Given the description of an element on the screen output the (x, y) to click on. 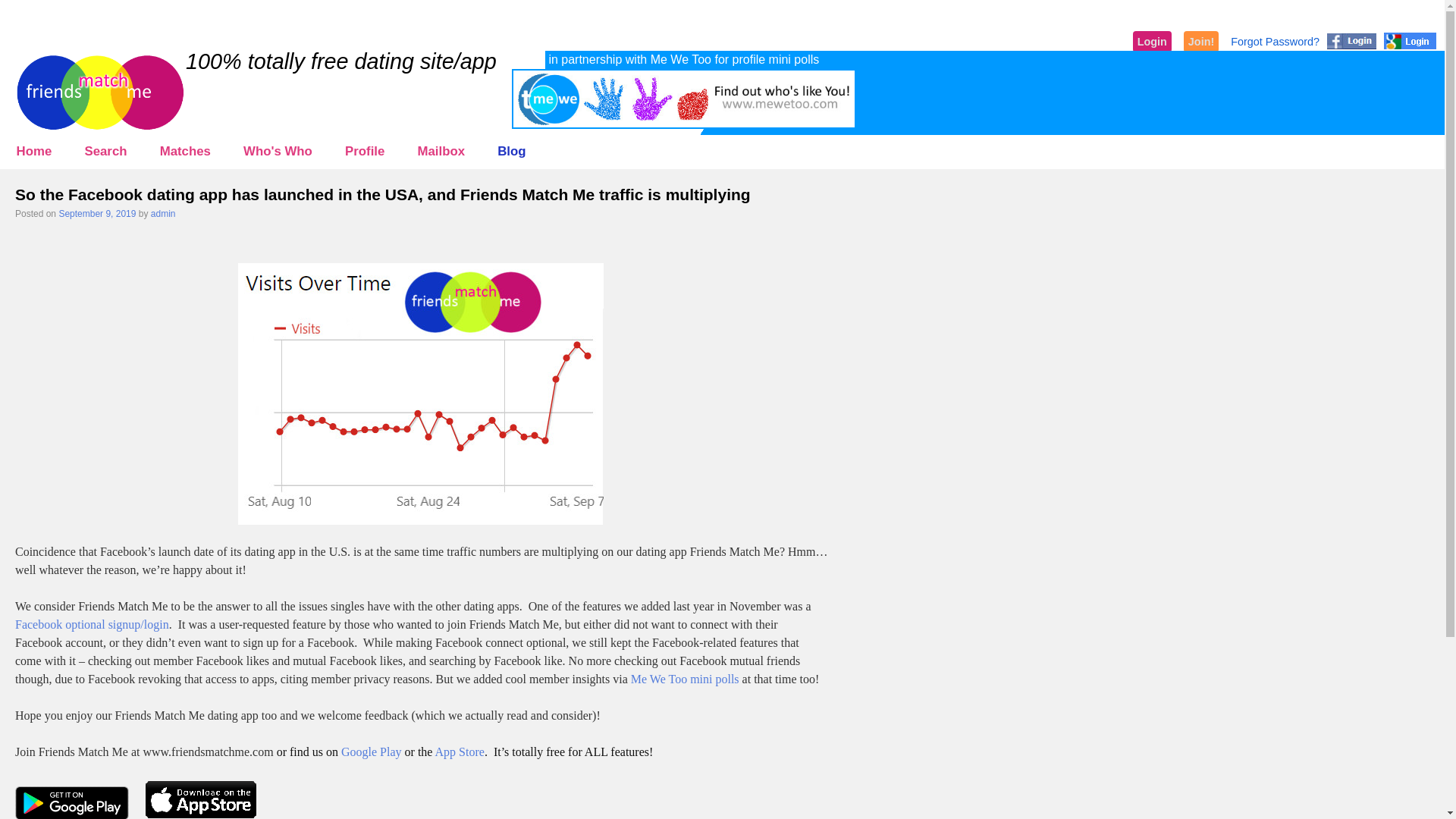
Google Play (370, 751)
September 9, 2019 (96, 213)
admin (163, 213)
Who's Who (278, 152)
Forgot Password? (1274, 41)
Login (1152, 41)
www.friendsmatchme.com (207, 751)
10:57 am (96, 213)
Home (34, 152)
Blog (512, 152)
Mailbox (441, 152)
Profile (364, 152)
Me We Too mini polls (684, 678)
View all posts by admin (163, 213)
Search (105, 152)
